Given the description of an element on the screen output the (x, y) to click on. 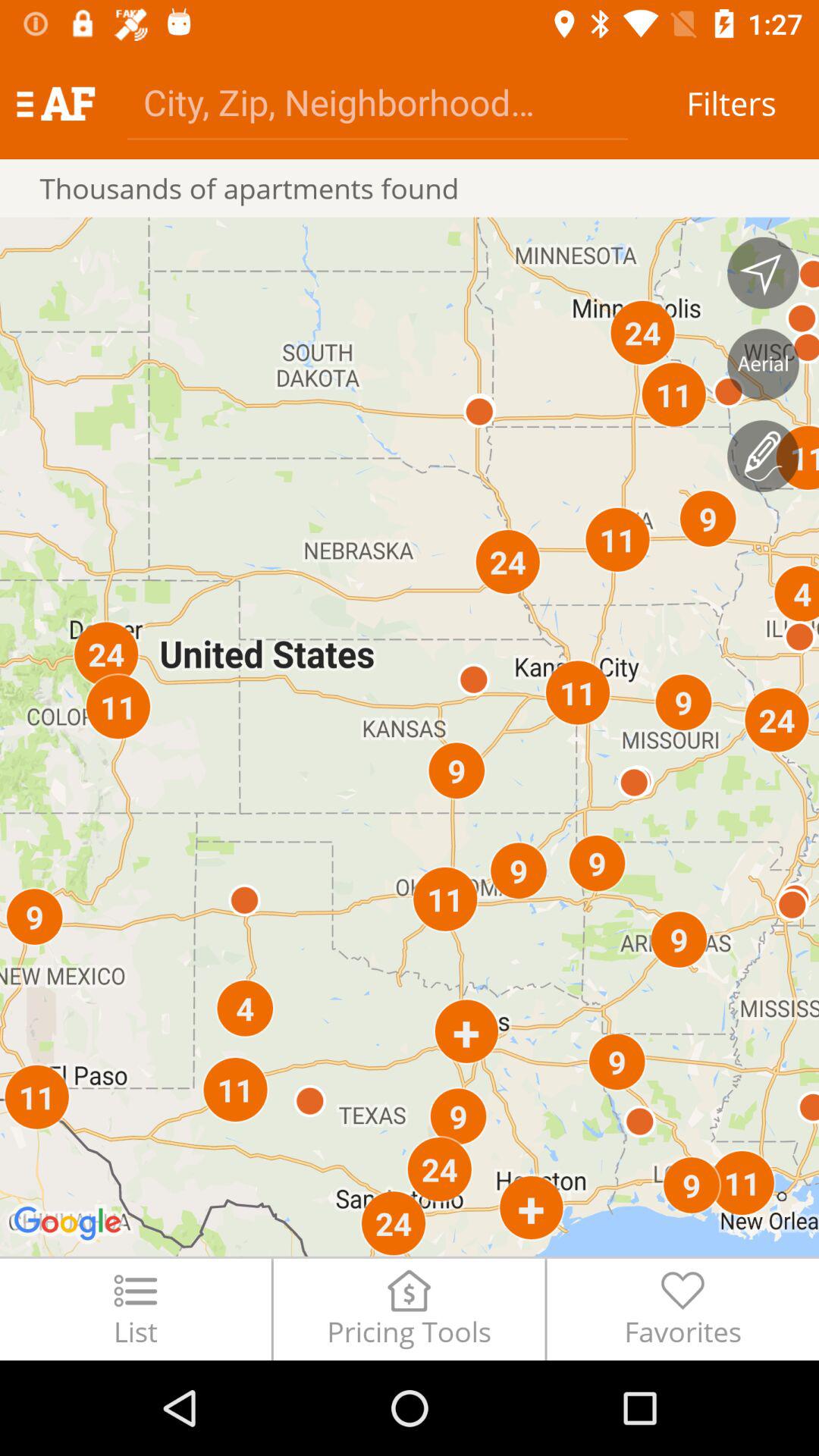
tap favorites (683, 1309)
